Given the description of an element on the screen output the (x, y) to click on. 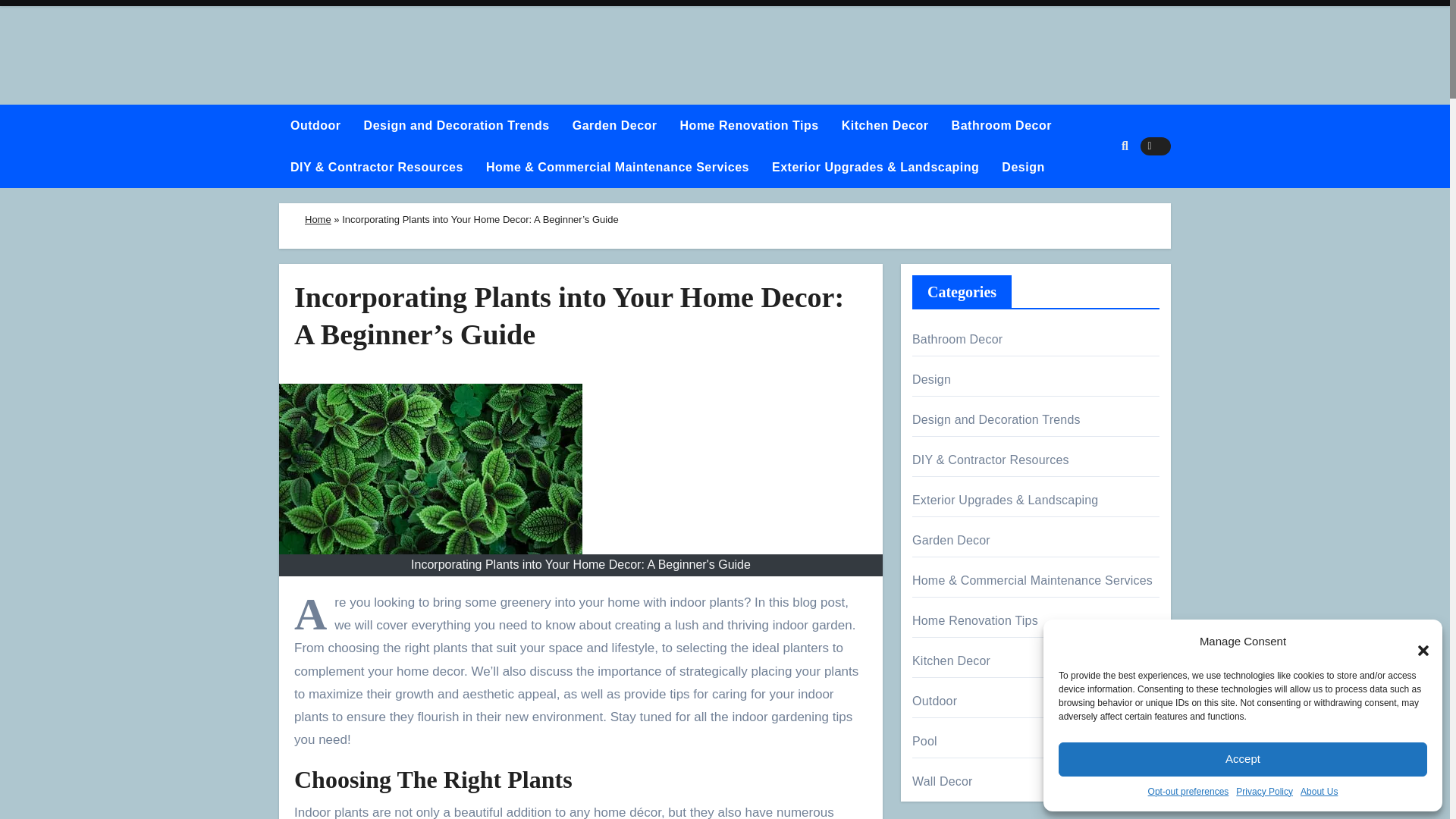
Kitchen Decor (884, 125)
Opt-out preferences (1188, 791)
Home (317, 219)
Kitchen Decor (884, 125)
Bathroom Decor (1001, 125)
Outdoor (315, 125)
Accept (1242, 759)
Design and Decoration Trends (456, 125)
Privacy Policy (1264, 791)
Bathroom Decor (1001, 125)
